Given the description of an element on the screen output the (x, y) to click on. 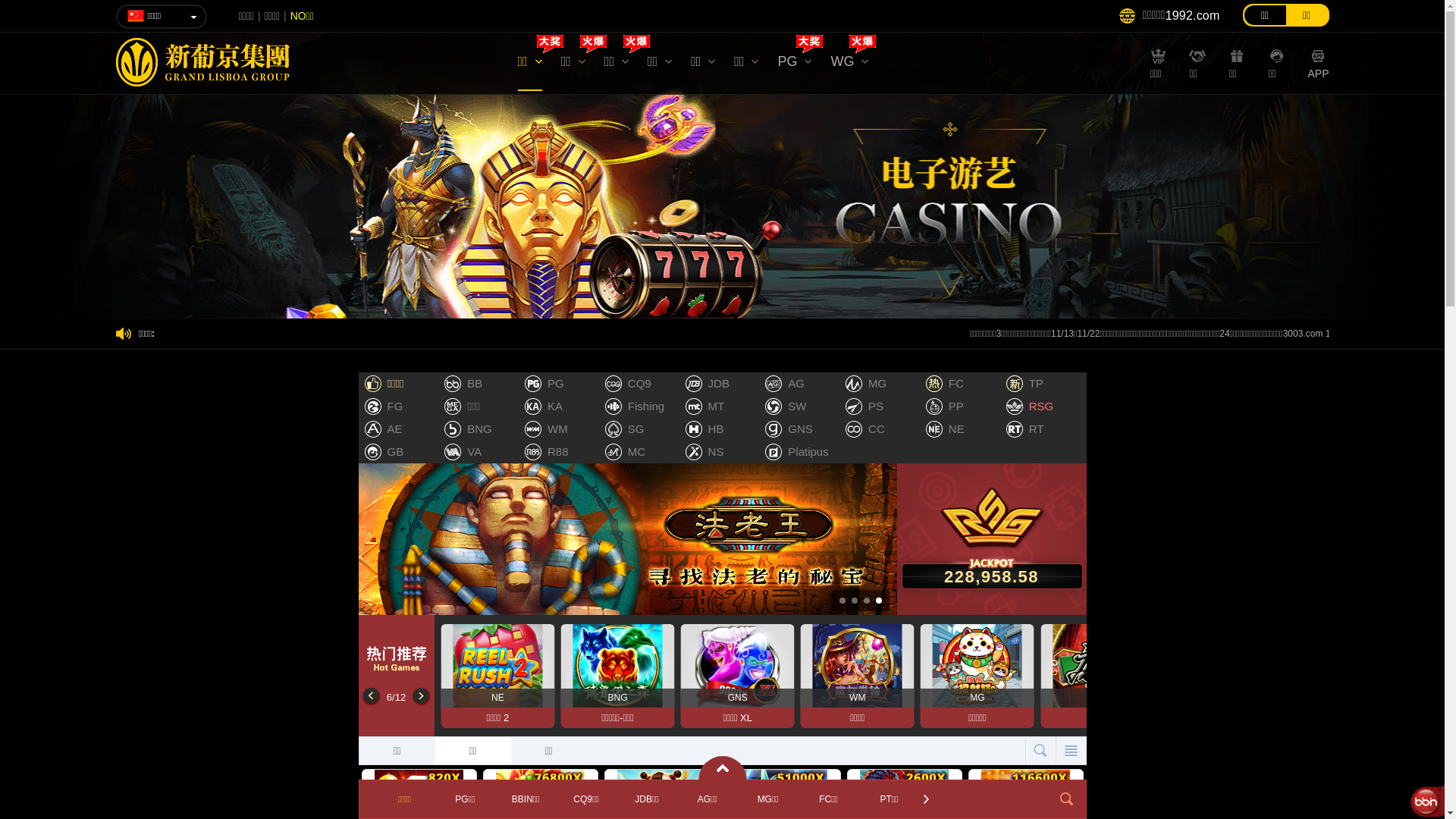
PG Element type: text (794, 65)
WG Element type: text (849, 65)
APP Element type: text (1317, 71)
